Given the description of an element on the screen output the (x, y) to click on. 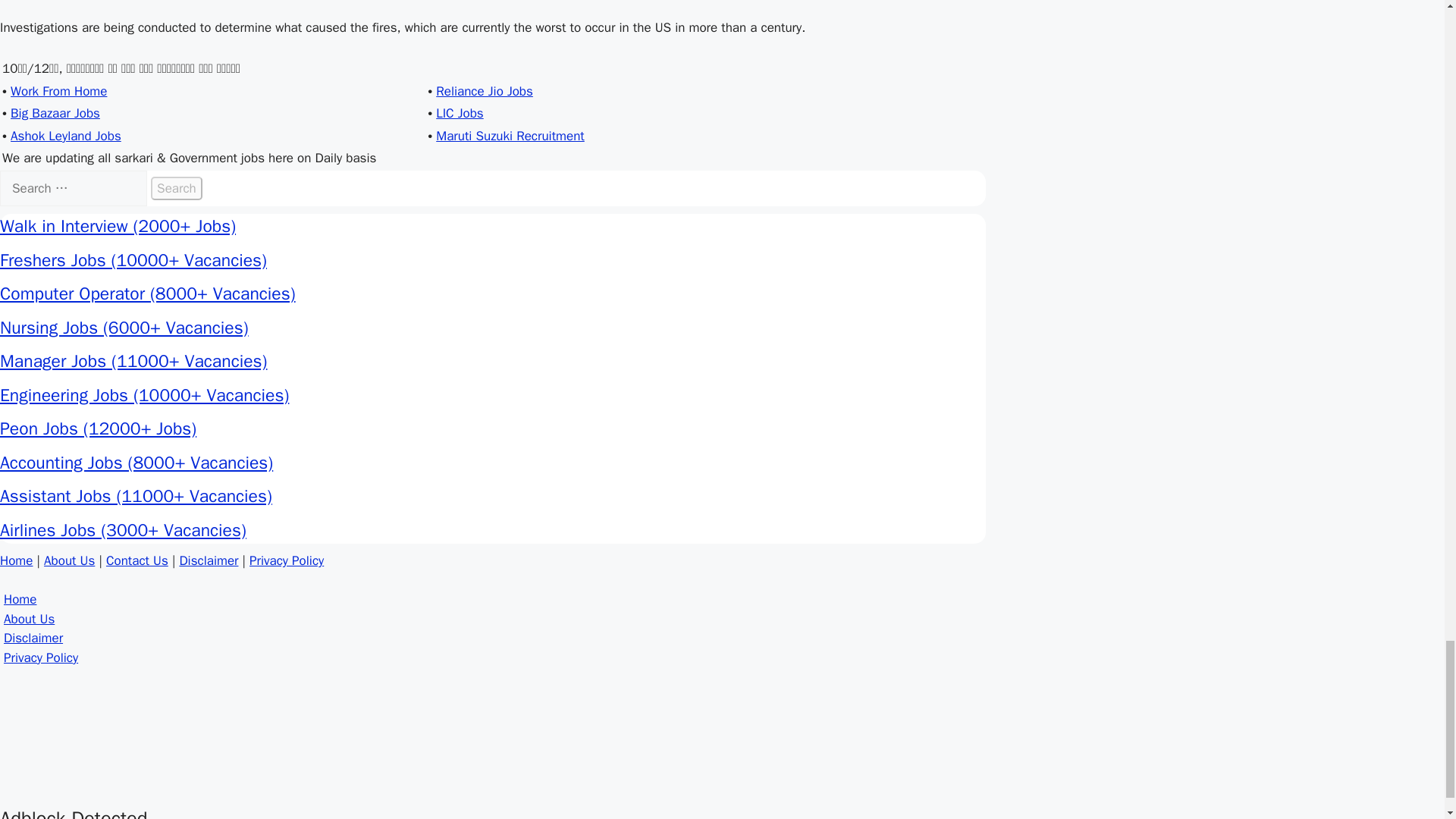
LIC Jobs (459, 113)
Search (176, 188)
Search (176, 188)
Big Bazaar Jobs (55, 113)
Ashok Leyland Jobs (65, 135)
Search (176, 188)
Maruti Suzuki Recruitment (510, 135)
Reliance Jio Jobs (483, 91)
Work From Home (58, 91)
